Given the description of an element on the screen output the (x, y) to click on. 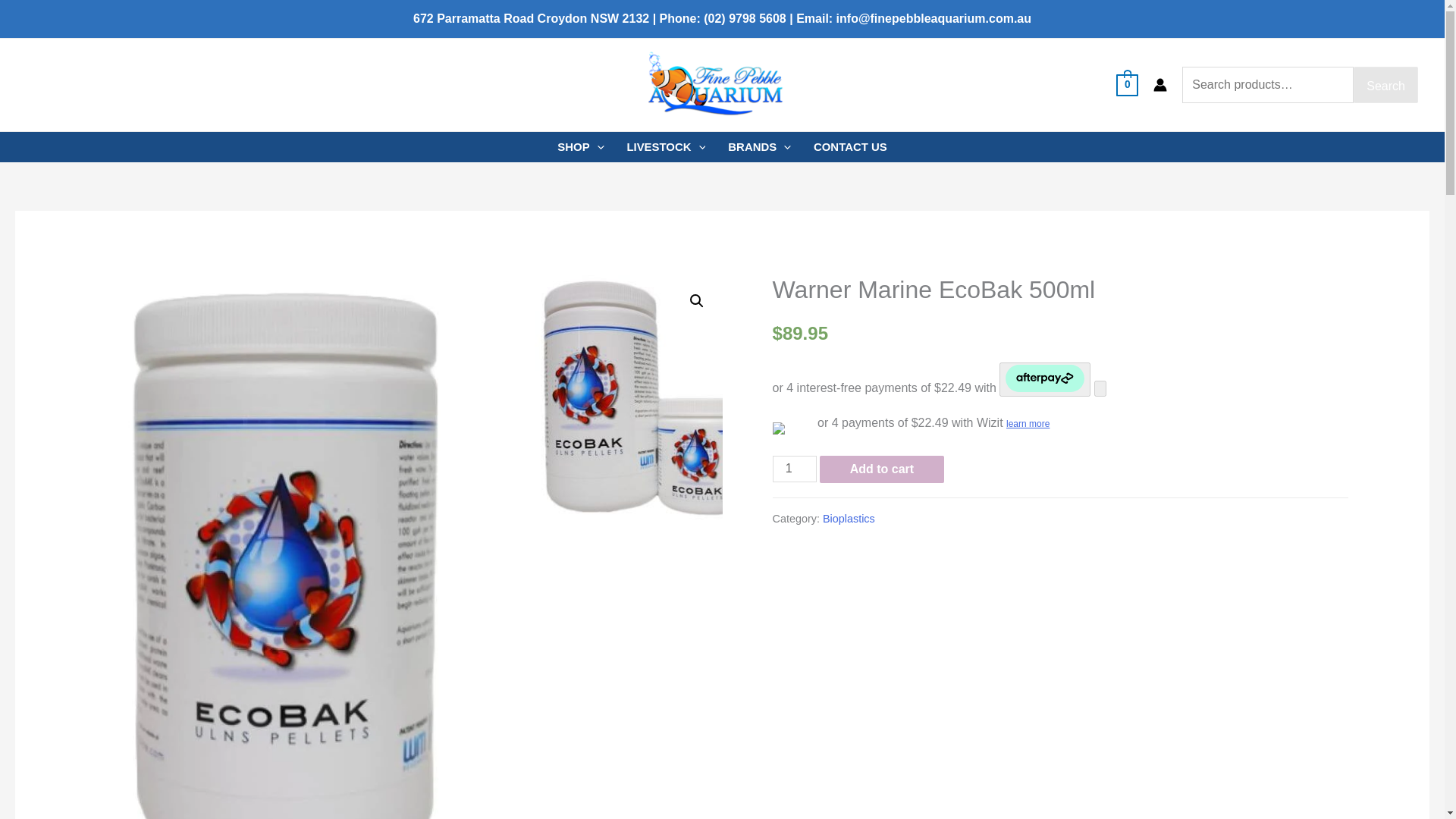
View your shopping cart (1127, 83)
0 (1127, 83)
SHOP (580, 146)
Search (1386, 84)
Qty (794, 468)
672 Parramatta Road Croydon NSW 2132 (531, 18)
1 (794, 468)
